Given the description of an element on the screen output the (x, y) to click on. 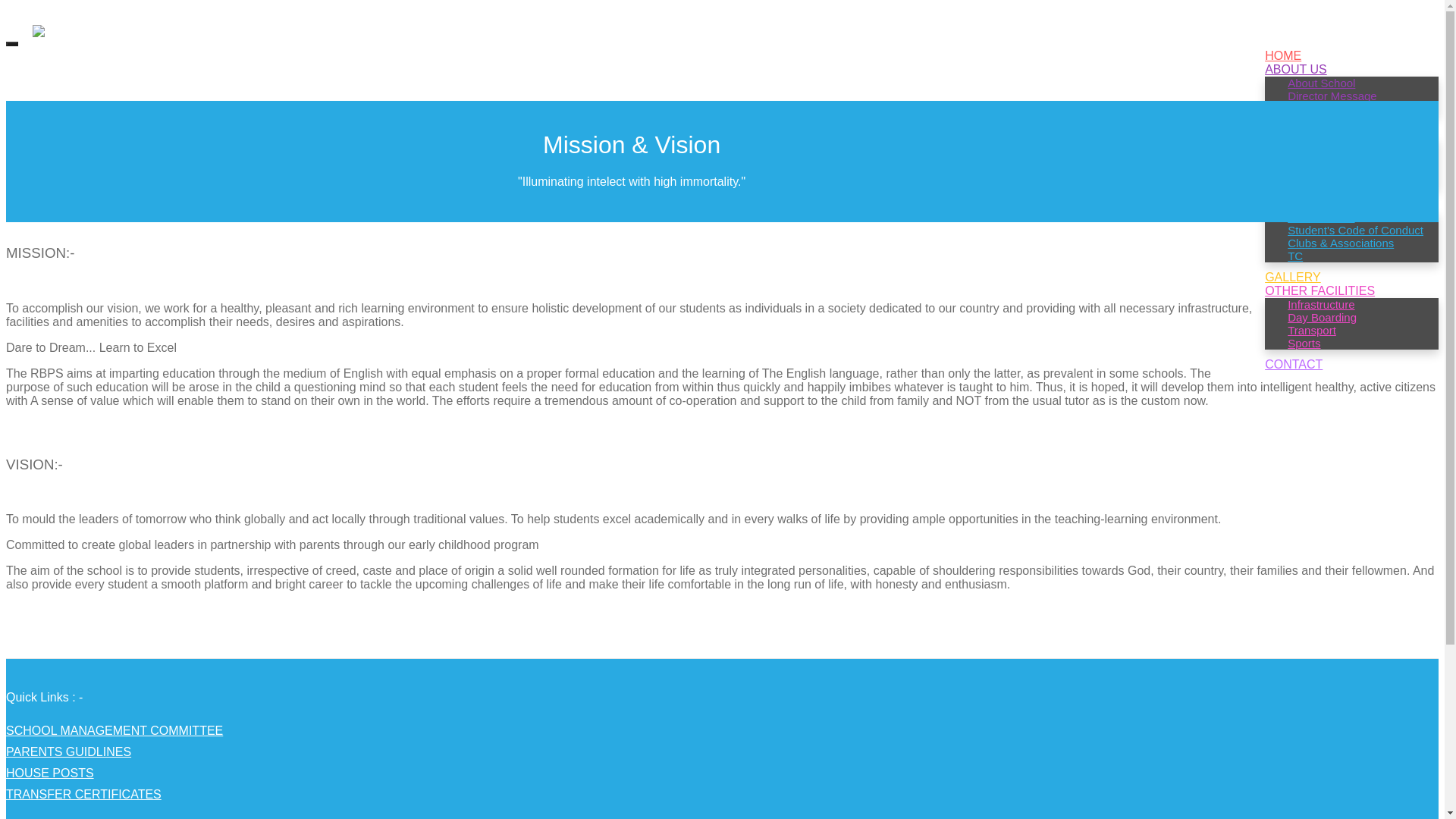
Transport (1311, 330)
GALLERY (1292, 276)
Infrastructure (1321, 304)
ACADEMICS (1300, 129)
Co-Curricular Activities (1345, 182)
ABOUT US (1295, 69)
TC (1294, 255)
Sports (1303, 342)
OTHER FACILITIES (1319, 290)
About School (1321, 83)
Affiliation (1310, 143)
SCHOOL MANAGEMENT COMMITTEE (113, 730)
STUDENT ZONE (1311, 203)
TRANSFER CERTIFICATES (83, 793)
Academic Calender (1337, 169)
